Given the description of an element on the screen output the (x, y) to click on. 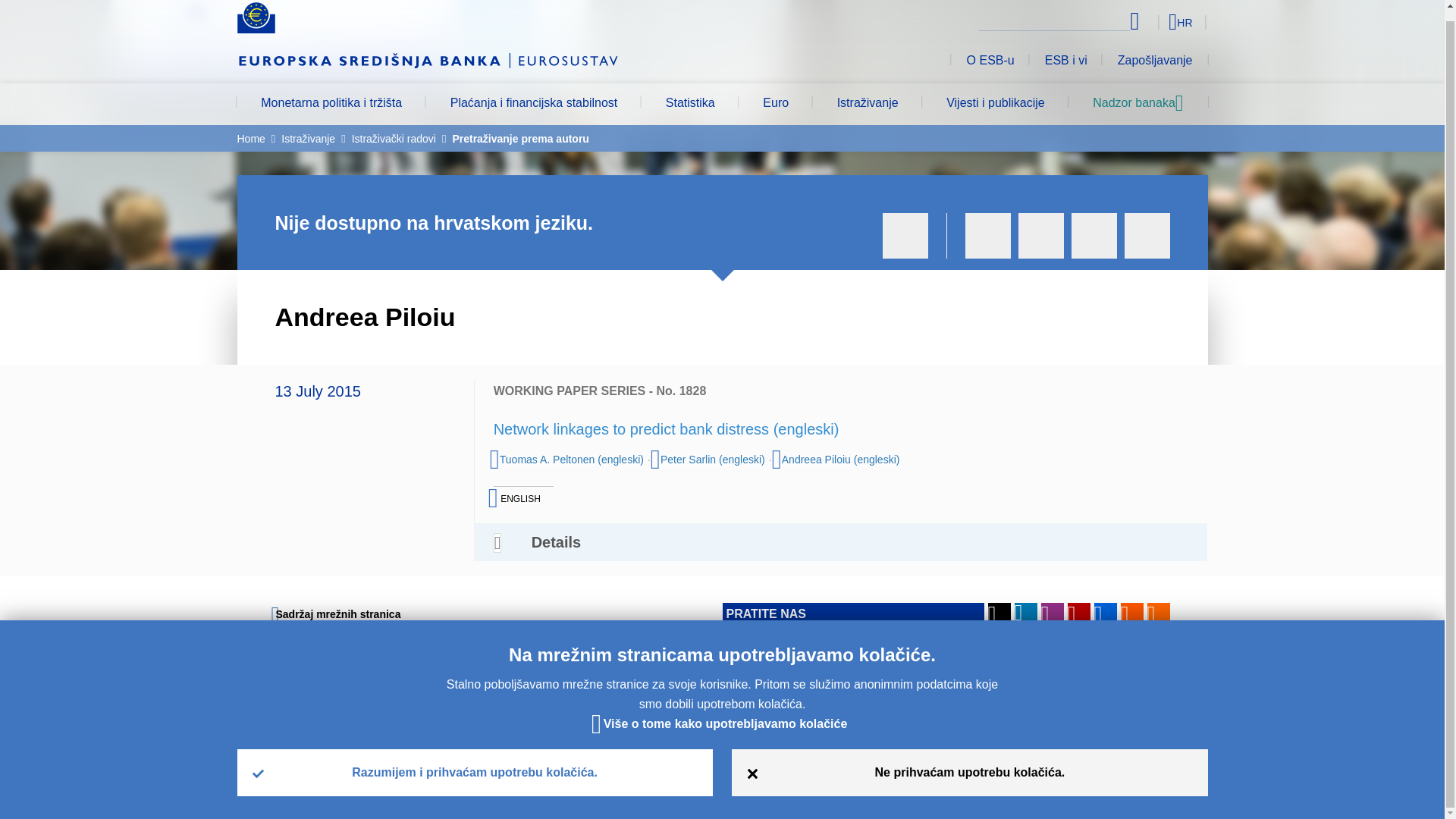
Select language (1153, 22)
